Given the description of an element on the screen output the (x, y) to click on. 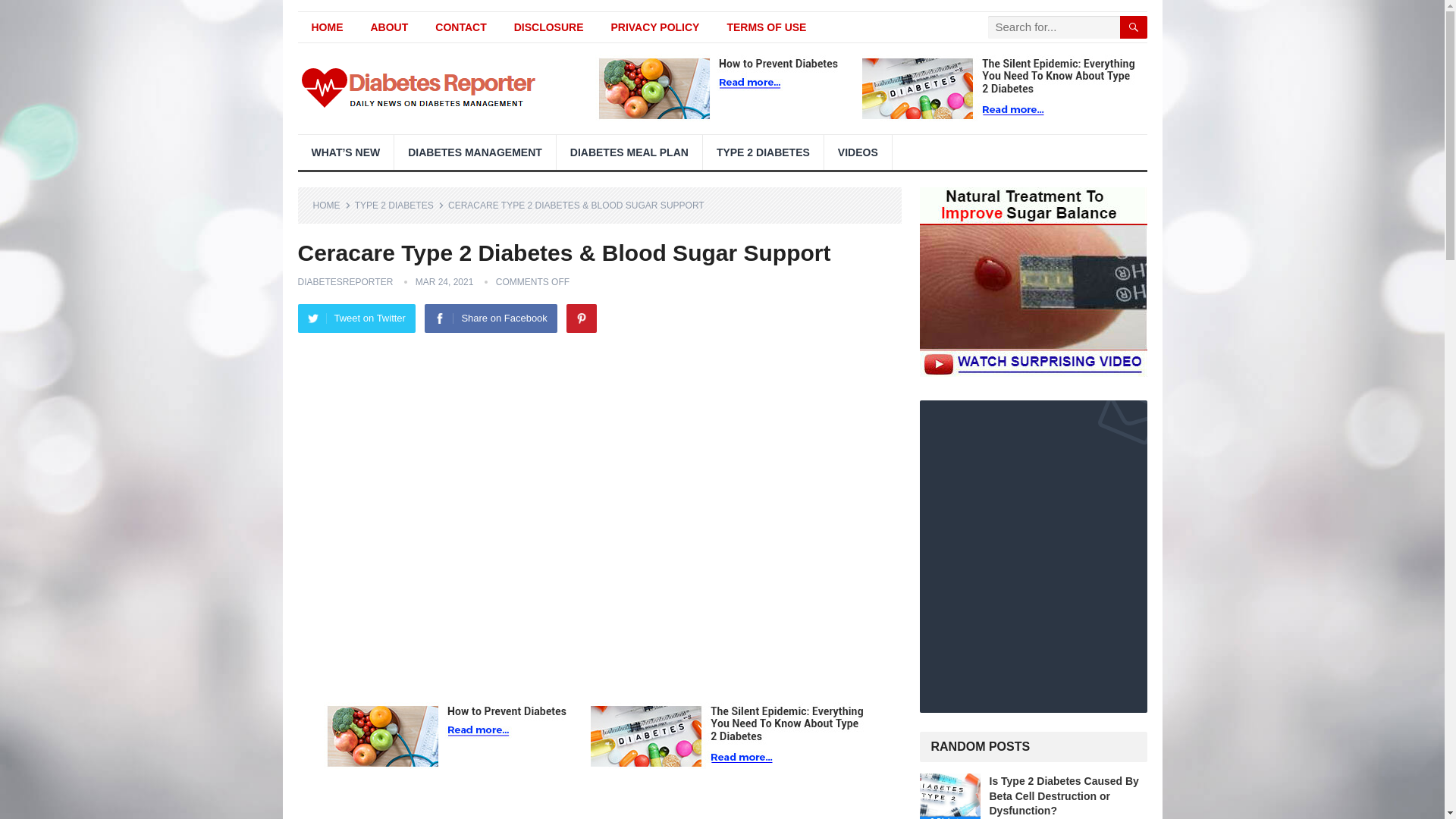
Share on Facebook (490, 317)
TERMS OF USE (766, 27)
Pinterest (581, 317)
DIABETES MEAL PLAN (628, 152)
HOME (331, 204)
CONTACT (460, 27)
Tweet on Twitter (355, 317)
DISCLOSURE (548, 27)
Posts by DiabetesReporter (345, 281)
